Given the description of an element on the screen output the (x, y) to click on. 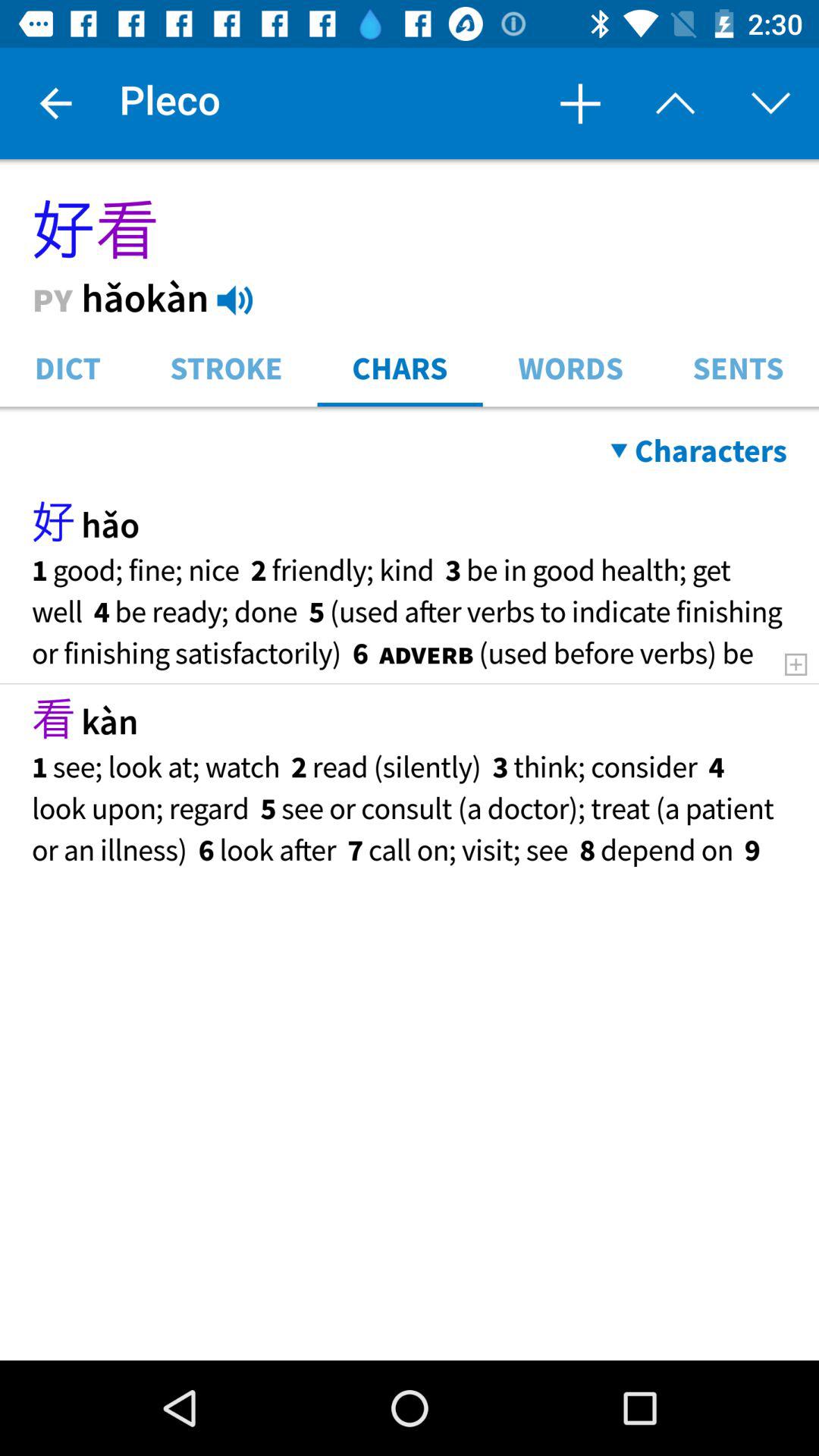
select the item to the right of the pleco icon (579, 103)
